Given the description of an element on the screen output the (x, y) to click on. 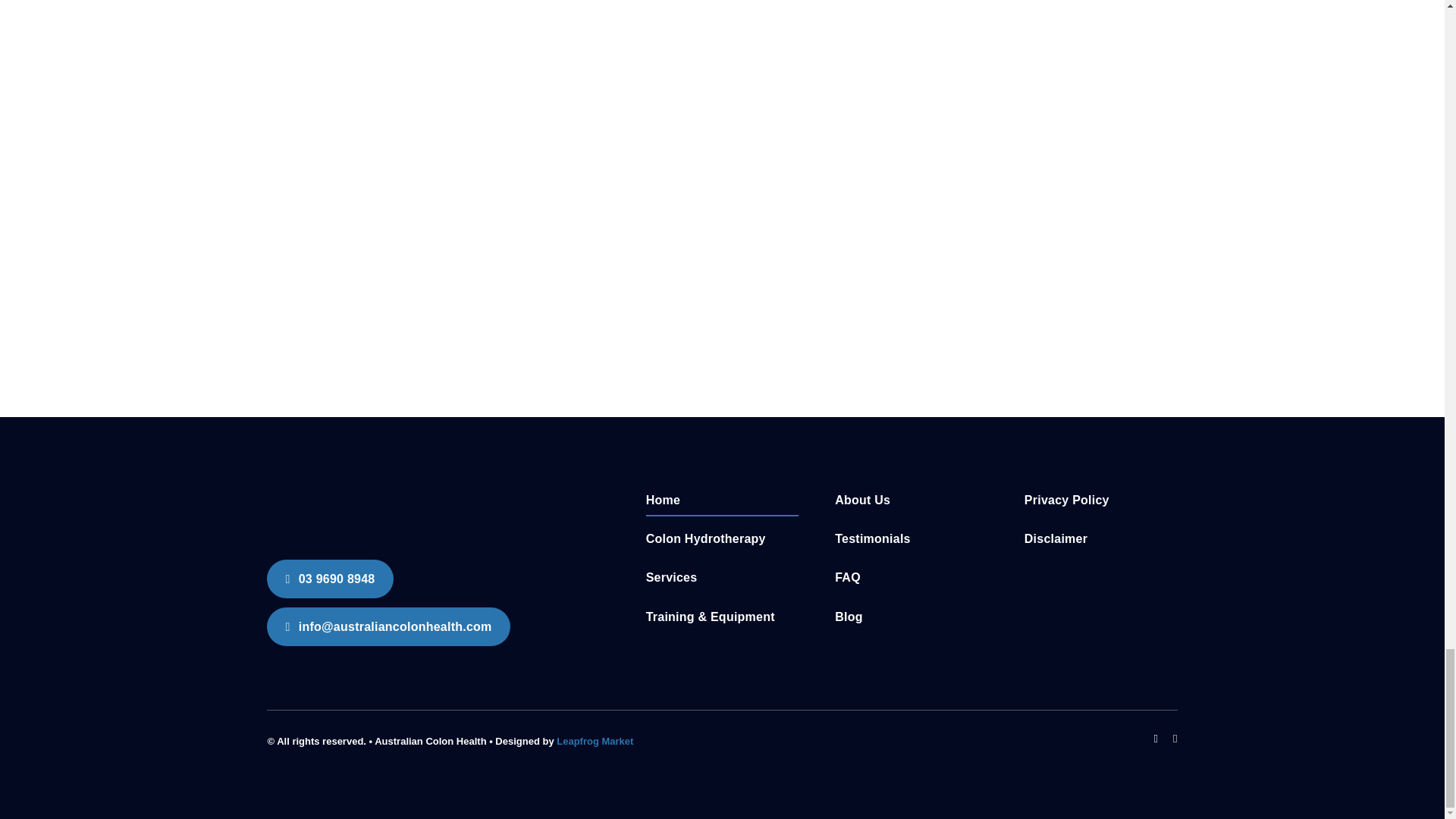
Testimonials (911, 539)
Blog (911, 617)
FAQ (911, 577)
Colon Hydrotherapy (722, 539)
About Us (911, 500)
03 9690 8948 (329, 578)
Privacy Policy (1101, 500)
Services (722, 577)
Home (722, 500)
